Given the description of an element on the screen output the (x, y) to click on. 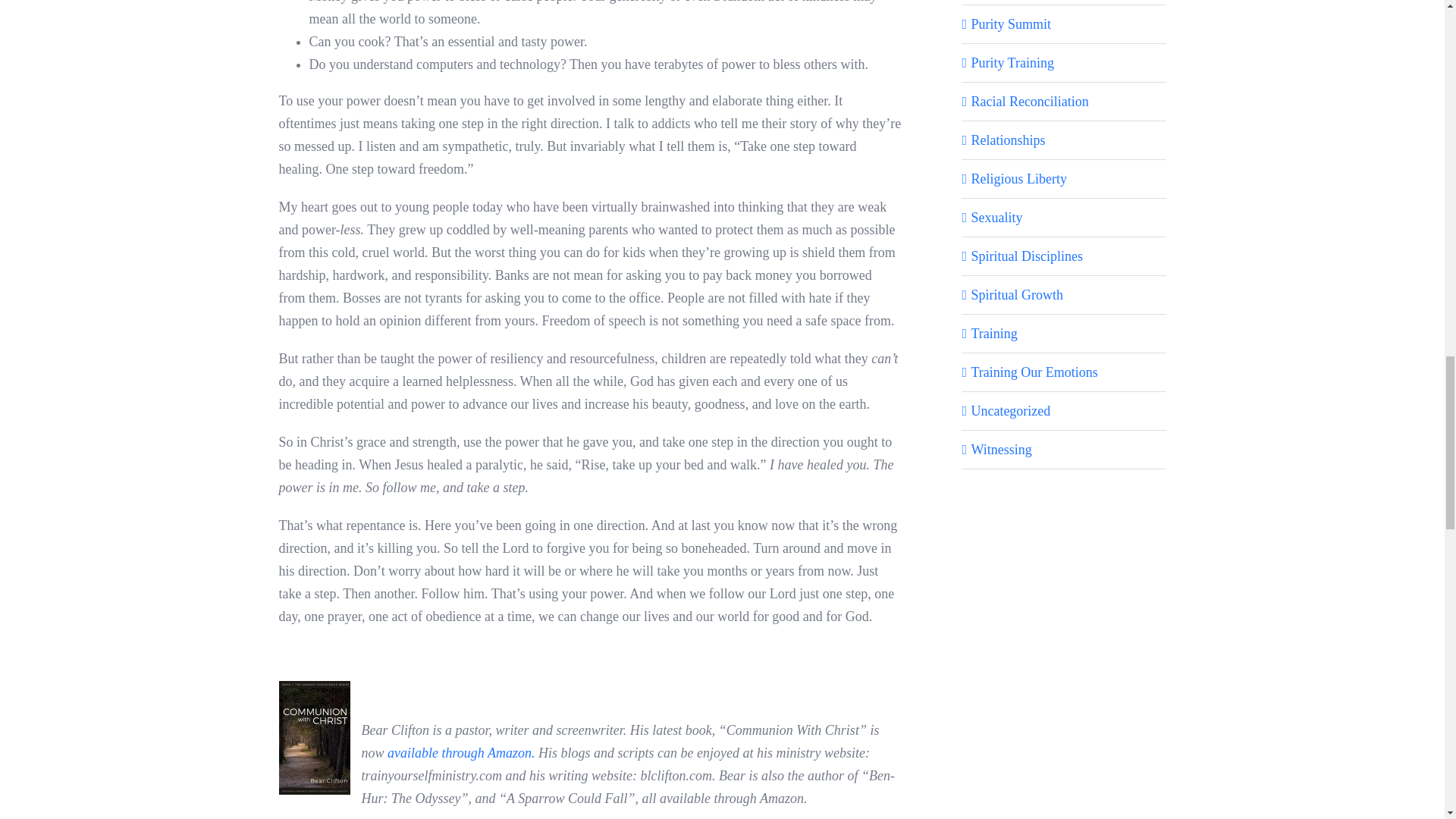
available through Amazon. (461, 752)
